Given the description of an element on the screen output the (x, y) to click on. 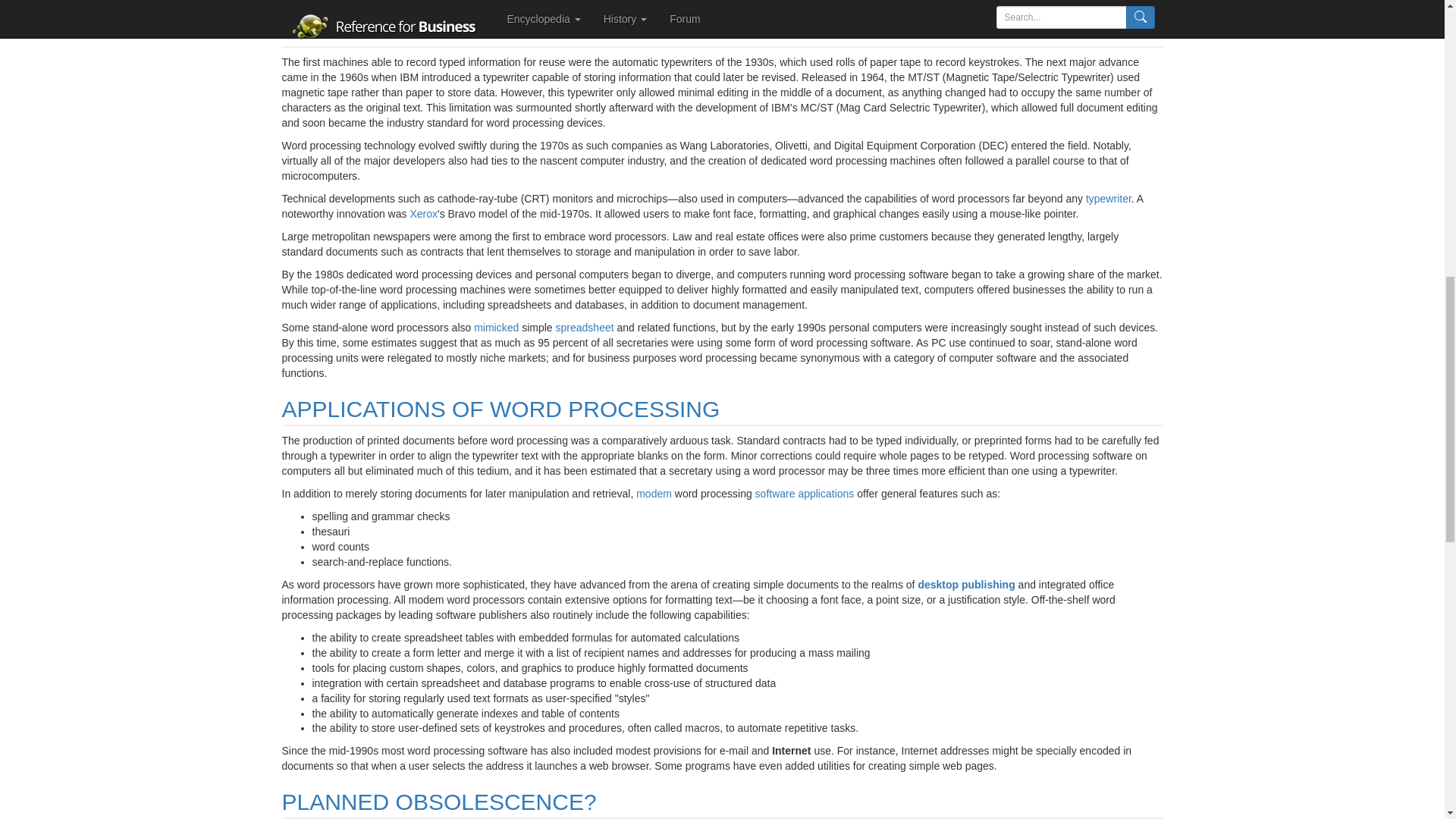
View 'typewriter' definition from Wikipedia (1108, 198)
PLANNED OBSOLESCENCE? (439, 801)
View 'software applications' definition from Wikipedia (804, 493)
View 'spreadsheet' definition from Wikipedia (585, 327)
HISTORY OF WORD PROCESSING (469, 30)
View 'xerox' definition from Wikipedia (423, 214)
software applications (804, 493)
typewriter (1108, 198)
modem (653, 493)
APPLICATIONS OF WORD PROCESSING (501, 408)
mimicked (496, 327)
spreadsheet (585, 327)
View 'modem' definition from Wikipedia (653, 493)
Xerox (423, 214)
View 'mimicked' definition from Wikipedia (496, 327)
